Given the description of an element on the screen output the (x, y) to click on. 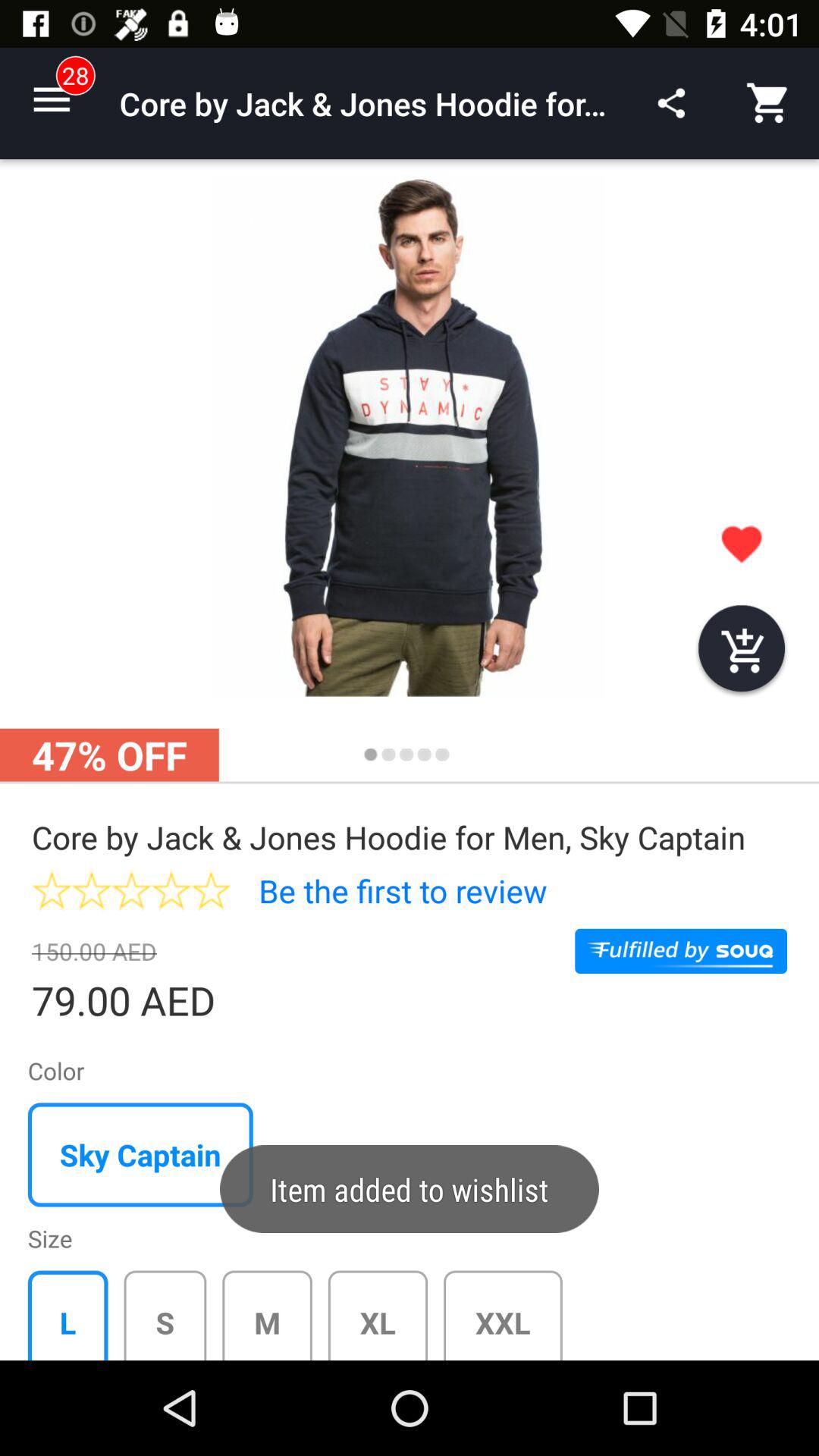
select the button which is right to m (385, 1315)
click the text above color (143, 1002)
